Given the description of an element on the screen output the (x, y) to click on. 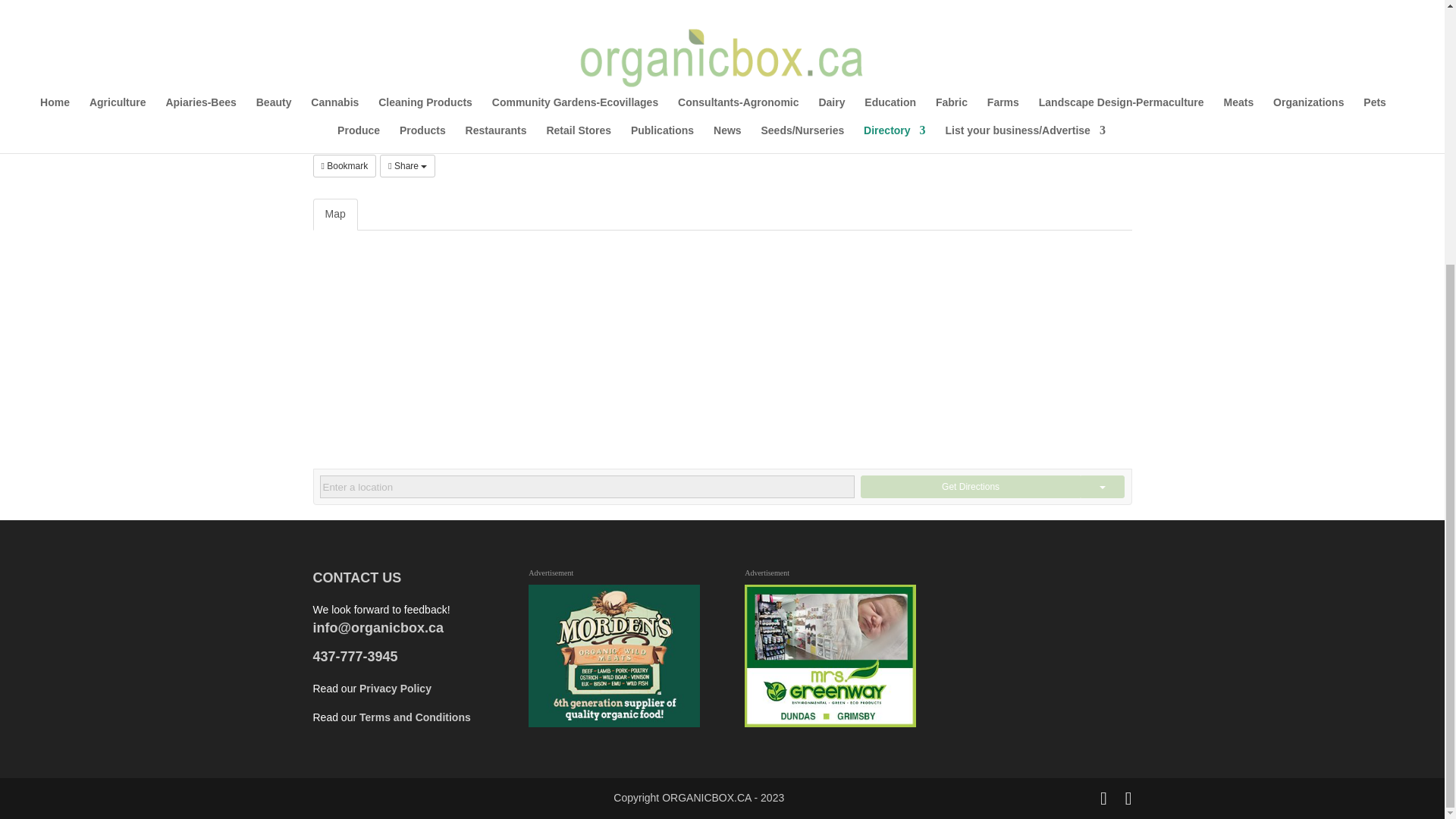
Morden's Organic Farm Store (613, 655)
Mrs Greenway250x300 (829, 655)
Bookmark this Listing (344, 165)
